Given the description of an element on the screen output the (x, y) to click on. 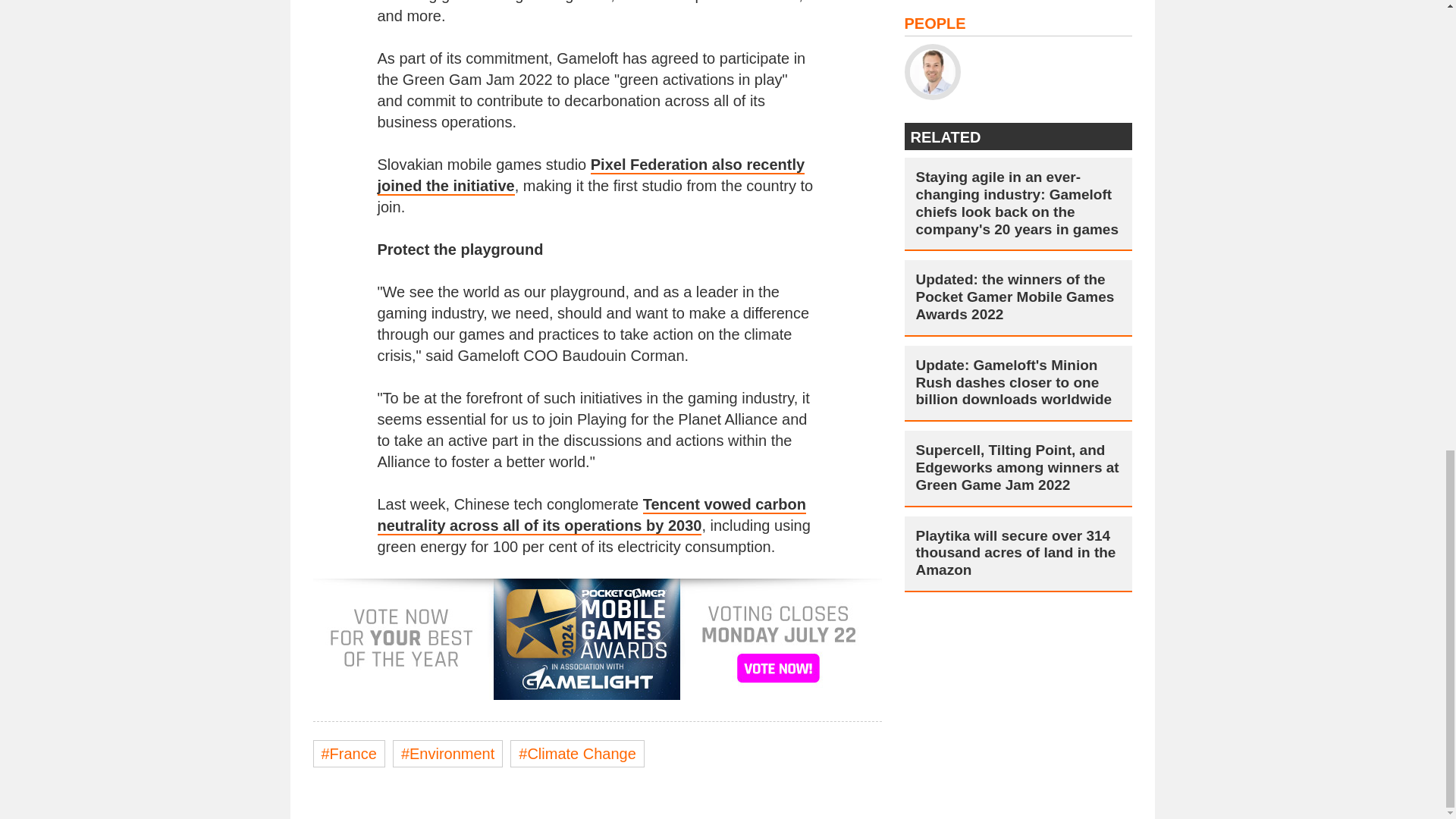
Pixel Federation also recently joined the initiative (591, 175)
